Given the description of an element on the screen output the (x, y) to click on. 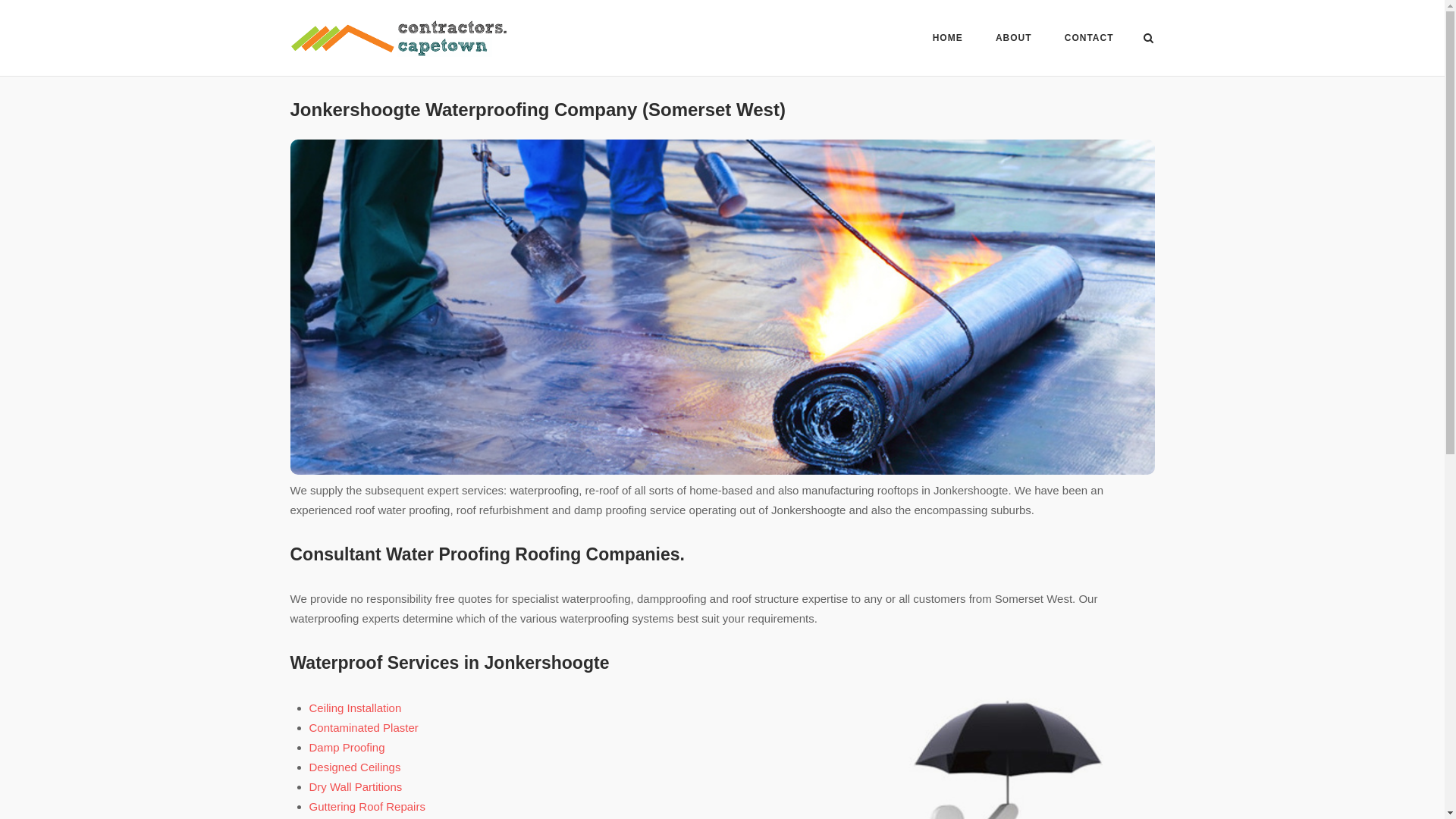
Designed Ceilings (354, 766)
Damp Proofing (346, 747)
Contaminated Plaster (363, 727)
ABOUT (1013, 40)
Damp Proofing (346, 747)
Ceiling Installation (354, 707)
HOME (947, 40)
Contaminated Plaster (363, 727)
Dry Wall Partitions (355, 786)
Ceiling Installation (354, 707)
CONTACT (1088, 40)
Guttering Roof Repairs (366, 806)
Designed Ceilings (354, 766)
Guttering Roof Repairs (366, 806)
Dry Wall Partitions (355, 786)
